Given the description of an element on the screen output the (x, y) to click on. 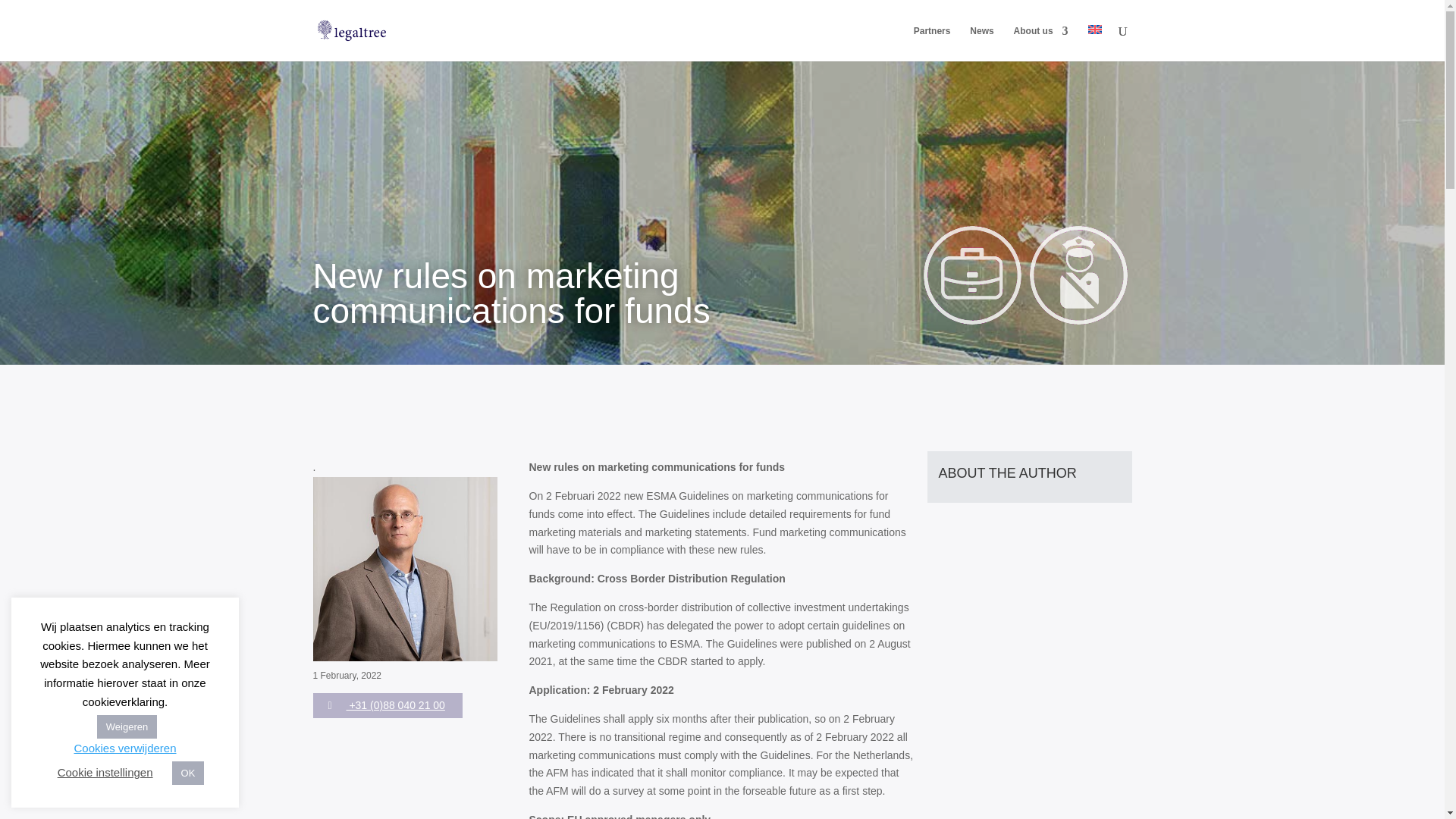
Partners (932, 43)
About us (1040, 43)
